Given the description of an element on the screen output the (x, y) to click on. 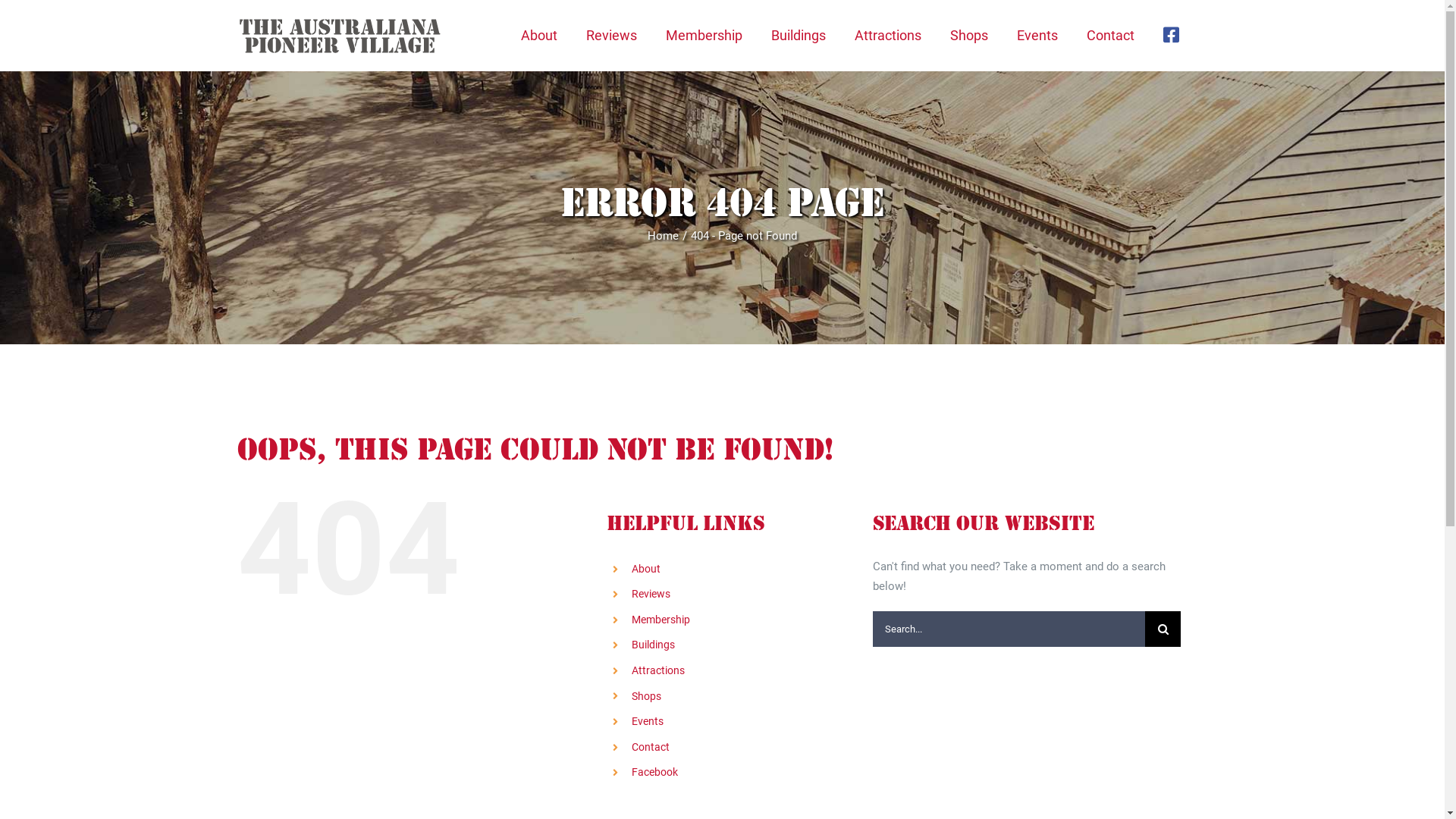
Facebook Element type: text (654, 771)
Contact Element type: text (1109, 35)
Home Element type: text (662, 235)
Shops Element type: text (968, 35)
Membership Element type: text (660, 619)
Buildings Element type: text (797, 35)
About Element type: text (538, 35)
Contact Element type: text (650, 746)
About Element type: text (645, 568)
Attractions Element type: text (657, 670)
Events Element type: text (647, 721)
Attractions Element type: text (886, 35)
Reviews Element type: text (610, 35)
Events Element type: text (1036, 35)
Buildings Element type: text (652, 644)
Membership Element type: text (703, 35)
Reviews Element type: text (650, 593)
Shops Element type: text (646, 696)
